Given the description of an element on the screen output the (x, y) to click on. 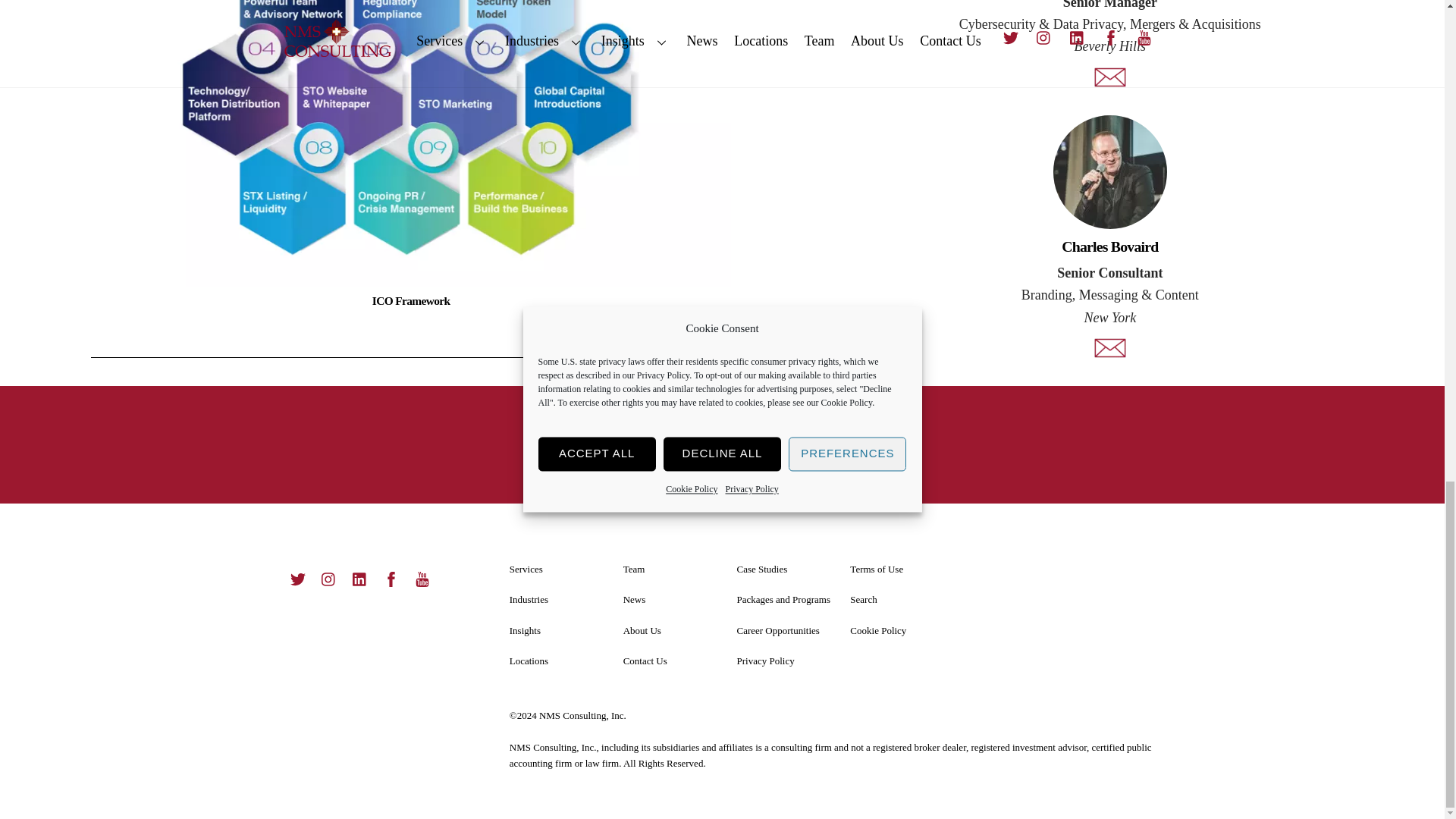
email (1109, 77)
email (1109, 347)
Charles Bovaird (1109, 172)
